Given the description of an element on the screen output the (x, y) to click on. 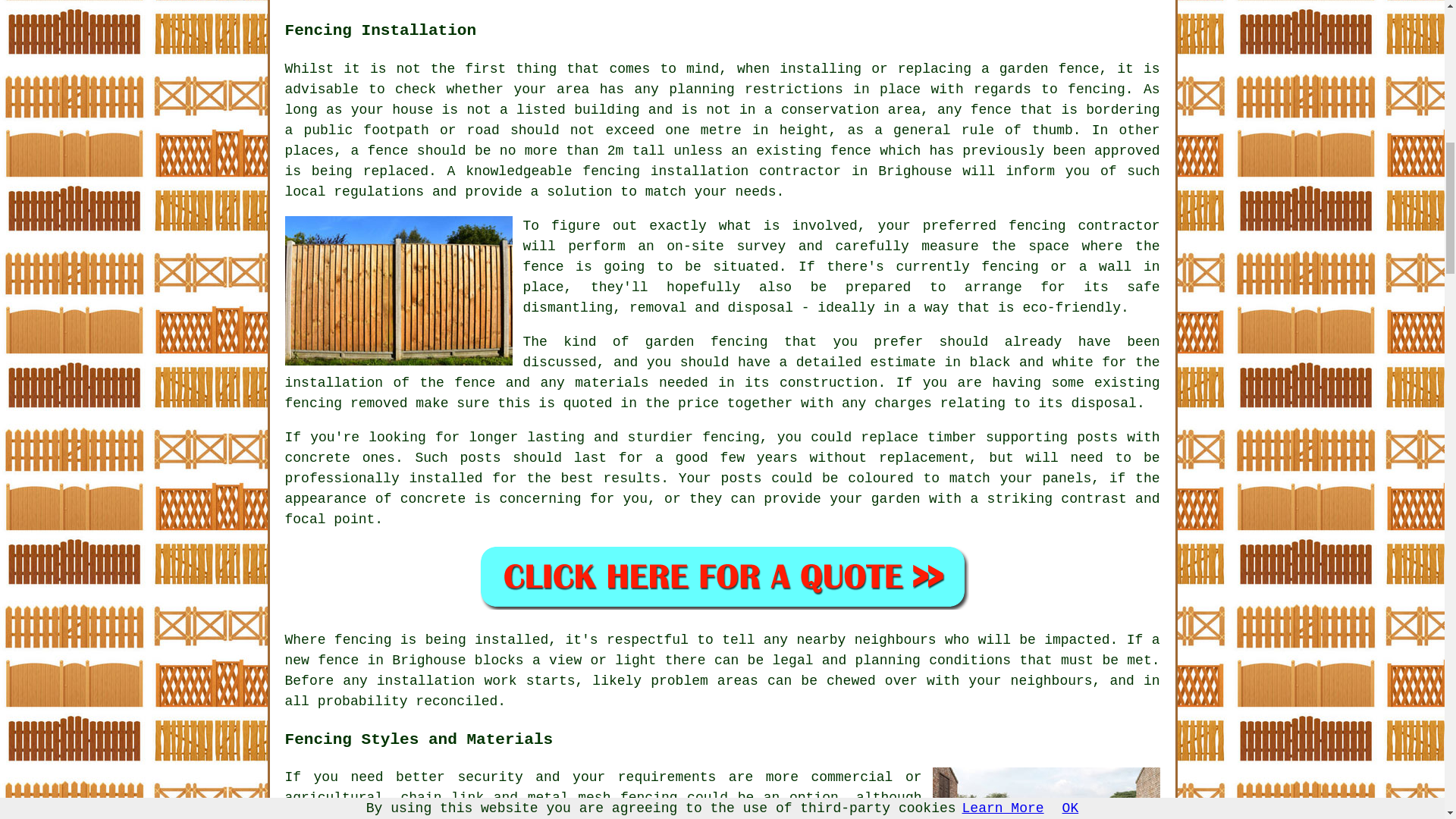
Garden Fencing Near Brighouse West Yorkshire (1046, 793)
Garden Fencing Quotes in Brighouse West Yorkshire (722, 575)
fencing (1096, 89)
fencing contractor (1084, 225)
garden fencing (706, 340)
